Given the description of an element on the screen output the (x, y) to click on. 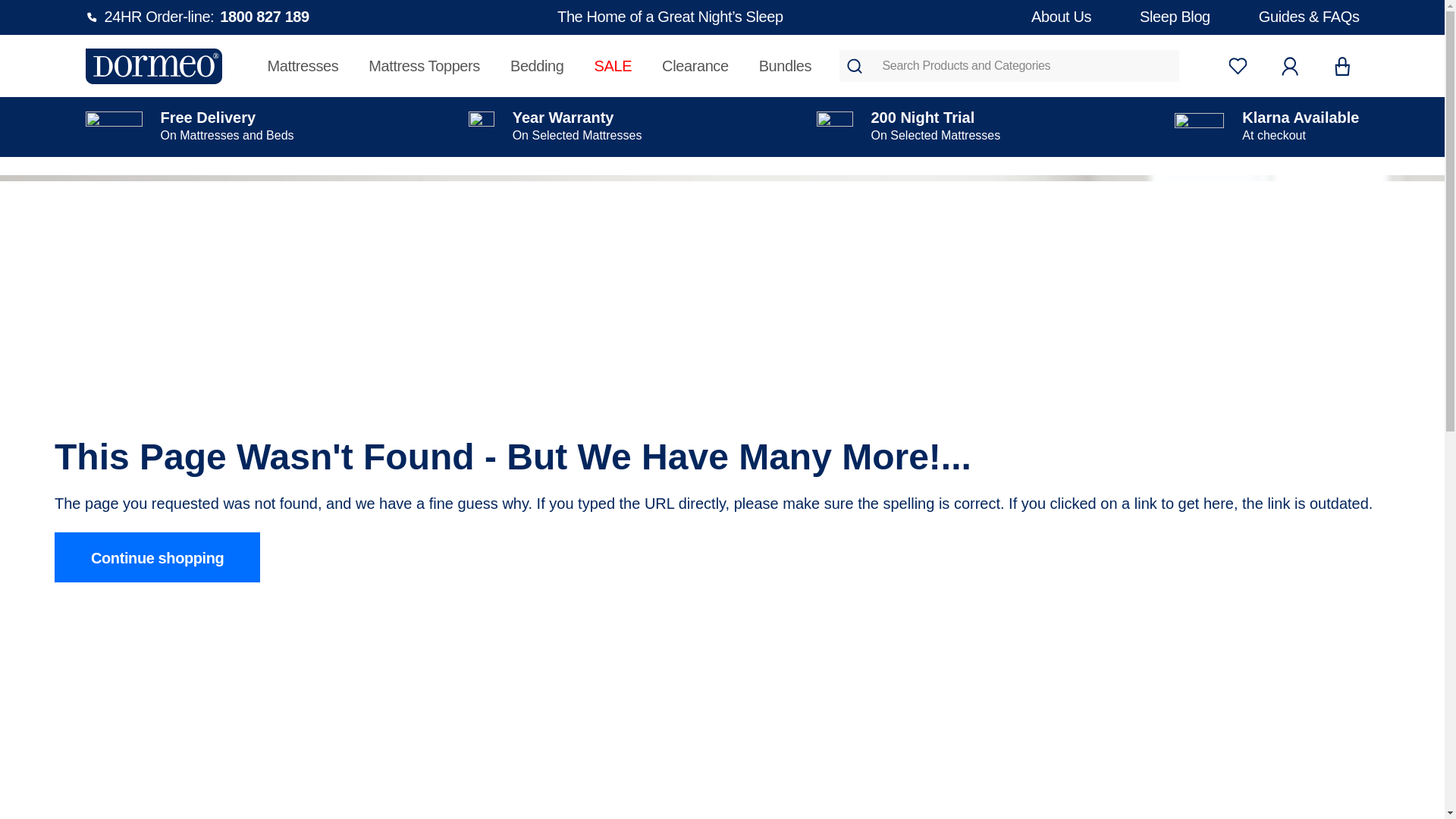
About Us (1060, 16)
Wishlist (196, 16)
Sleep Blog (1238, 65)
Mattress Toppers (1174, 16)
Search (424, 65)
Mattresses (853, 65)
